Given the description of an element on the screen output the (x, y) to click on. 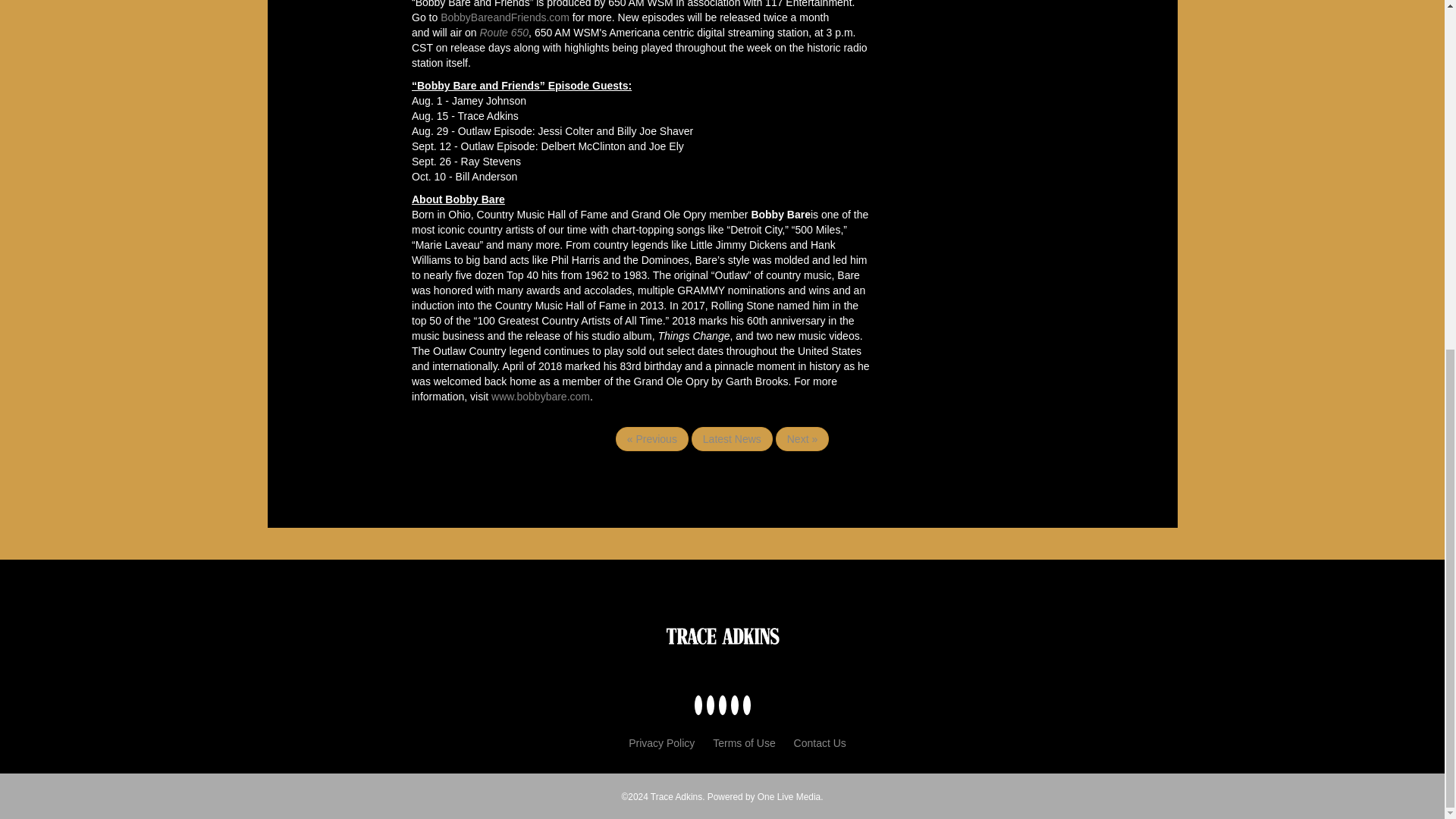
Route 650 (503, 32)
One Live Media (789, 796)
Terms of Use (743, 743)
Contact Us (819, 743)
Privacy Policy (661, 743)
Terms of Use (743, 743)
Contact Us (819, 743)
Trace Adkins (675, 796)
BobbyBareandFriends.com (505, 17)
Privacy Policy (661, 743)
Trace Adkins homepage (675, 796)
 www.bobbybare.com (538, 396)
Latest News (732, 438)
